Given the description of an element on the screen output the (x, y) to click on. 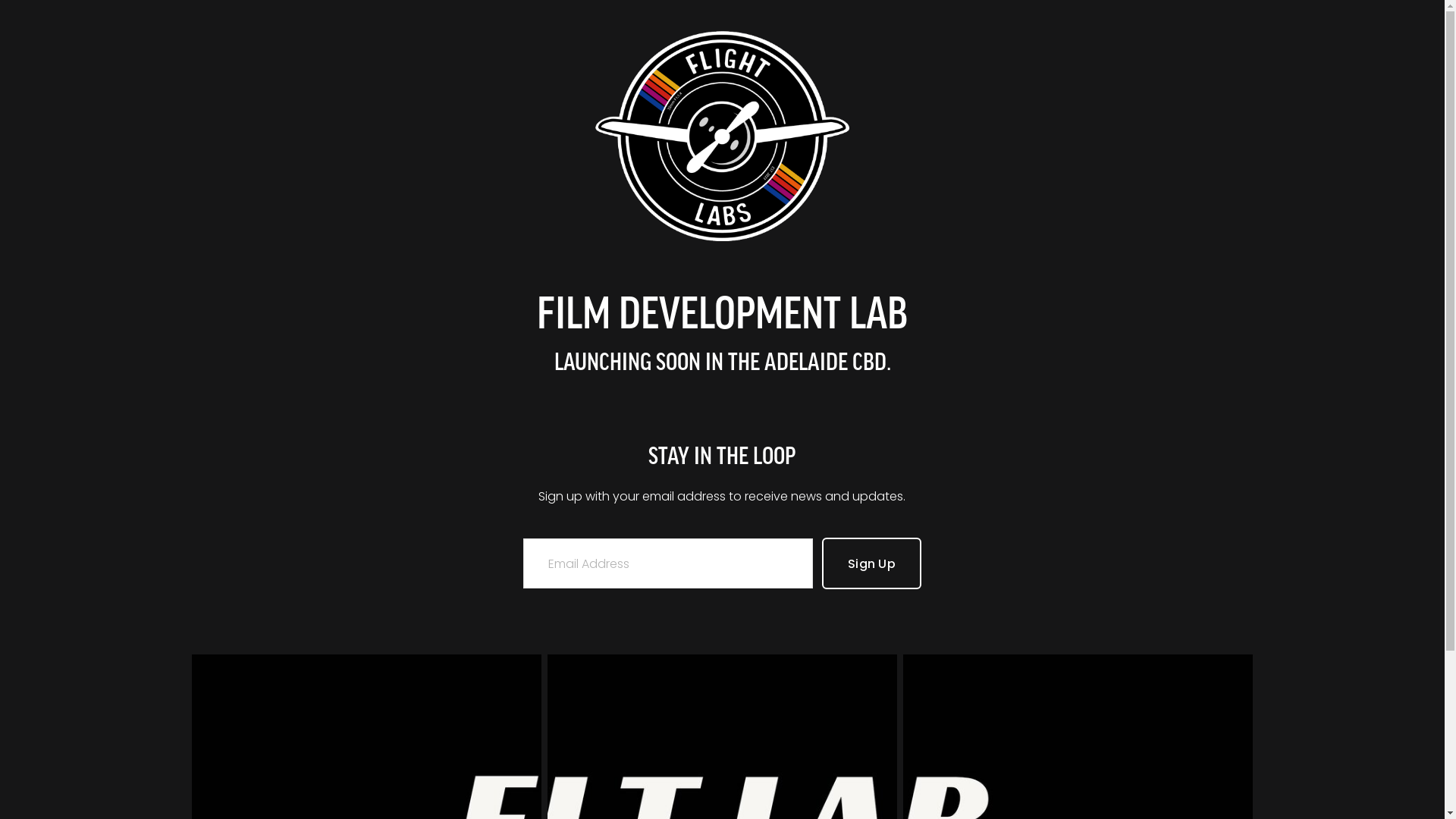
Sign Up Element type: text (871, 563)
